Given the description of an element on the screen output the (x, y) to click on. 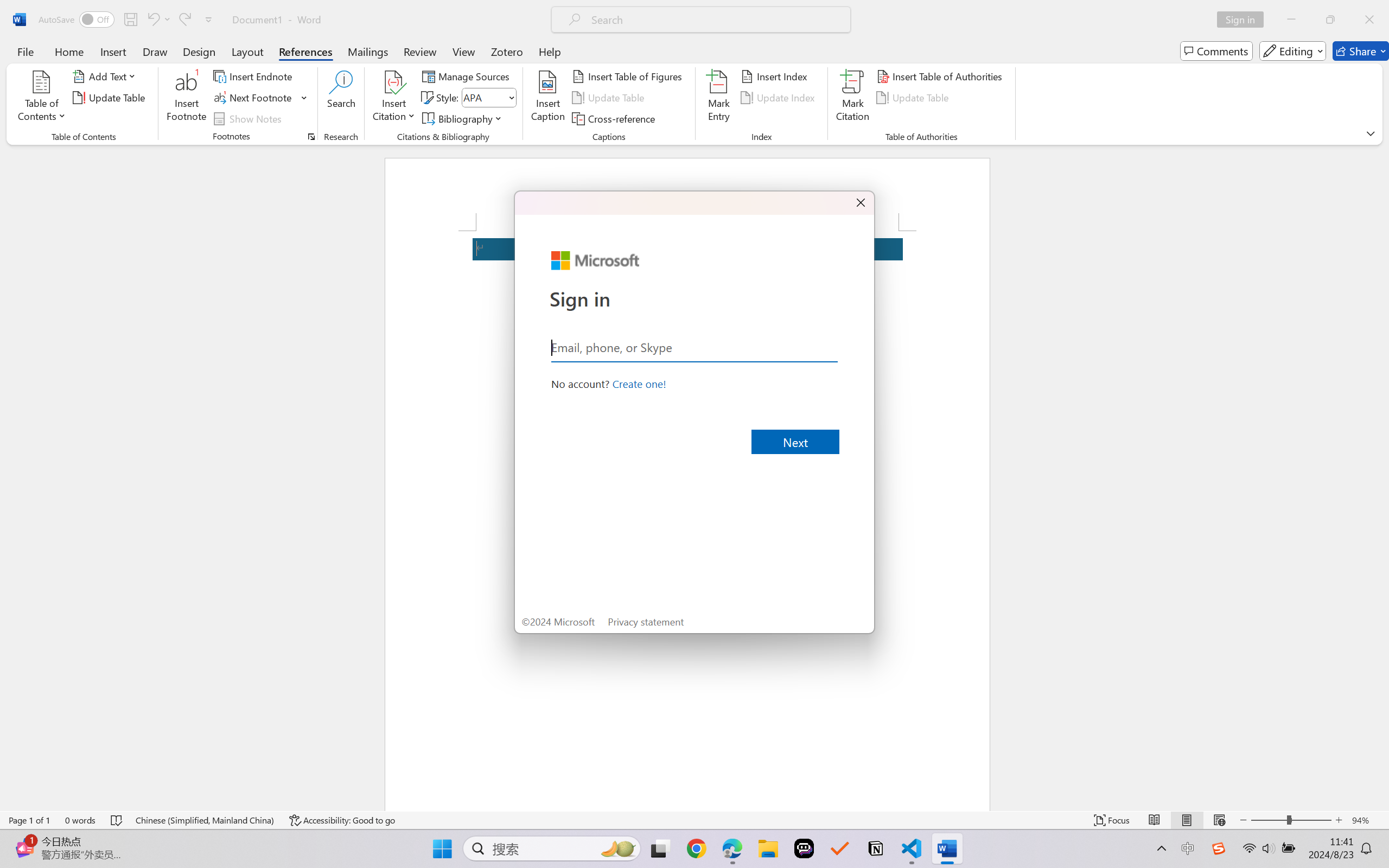
Style (488, 97)
Search (341, 97)
Style (483, 96)
Table of Contents (42, 97)
Footnote and Endnote Dialog... (311, 136)
Insert Citation (393, 97)
